Given the description of an element on the screen output the (x, y) to click on. 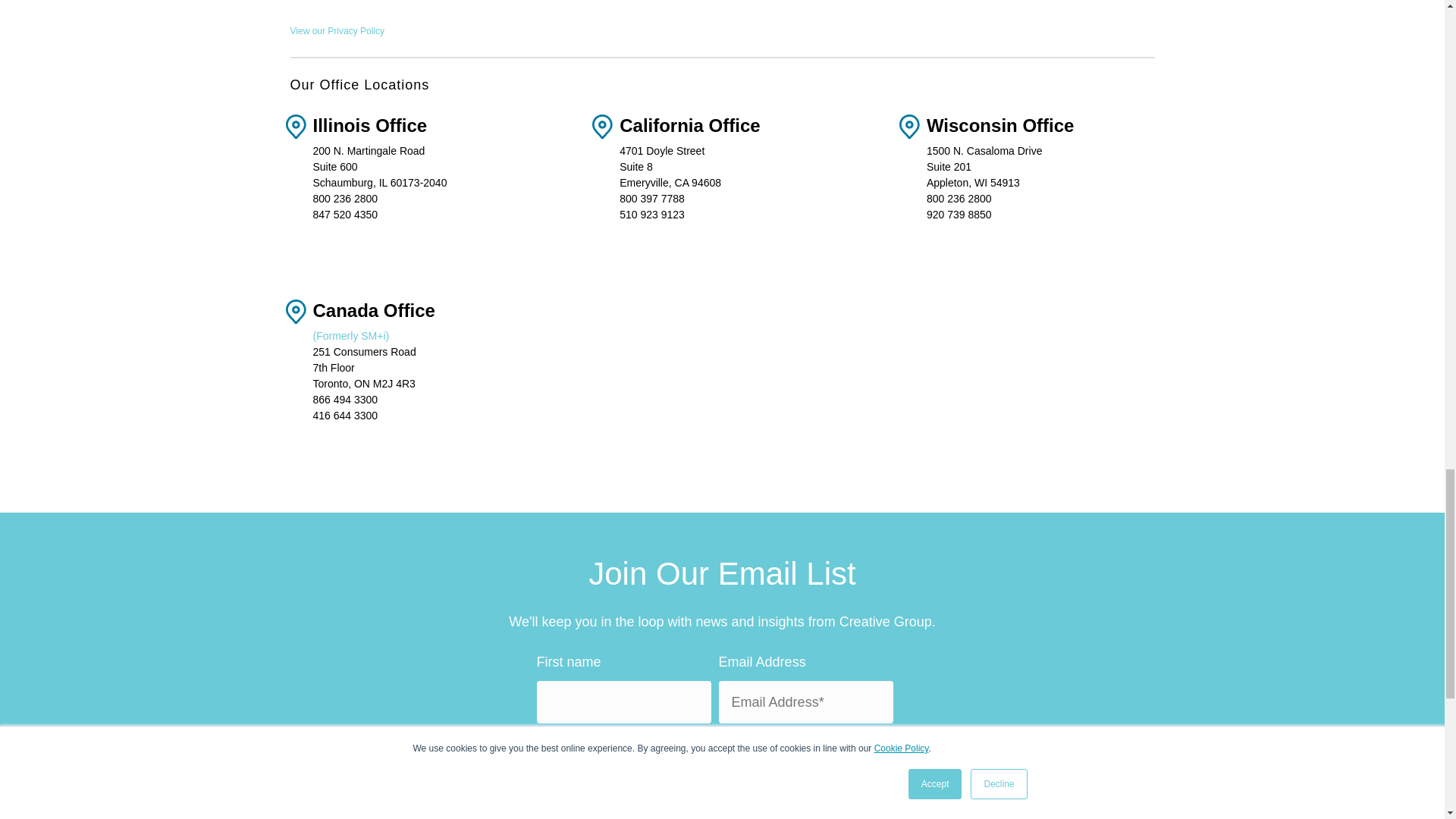
Subscribe (824, 756)
reCAPTCHA (633, 764)
Form 0 (552, 11)
